Given the description of an element on the screen output the (x, y) to click on. 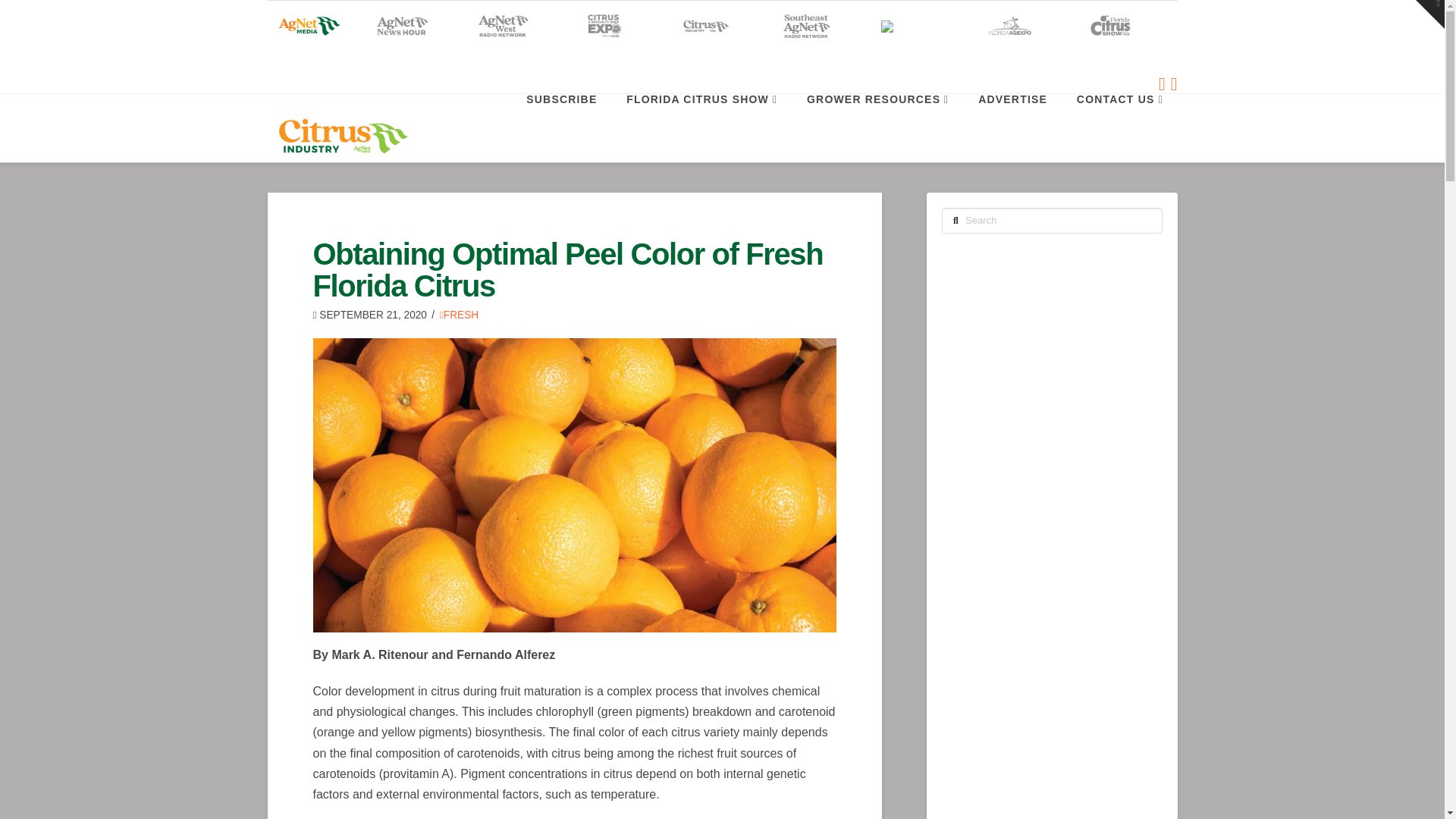
FLORIDA CITRUS SHOW (701, 128)
CONTACT US (1119, 128)
ADVERTISE (1011, 128)
GROWER RESOURCES (877, 128)
SUBSCRIBE (561, 128)
